Given the description of an element on the screen output the (x, y) to click on. 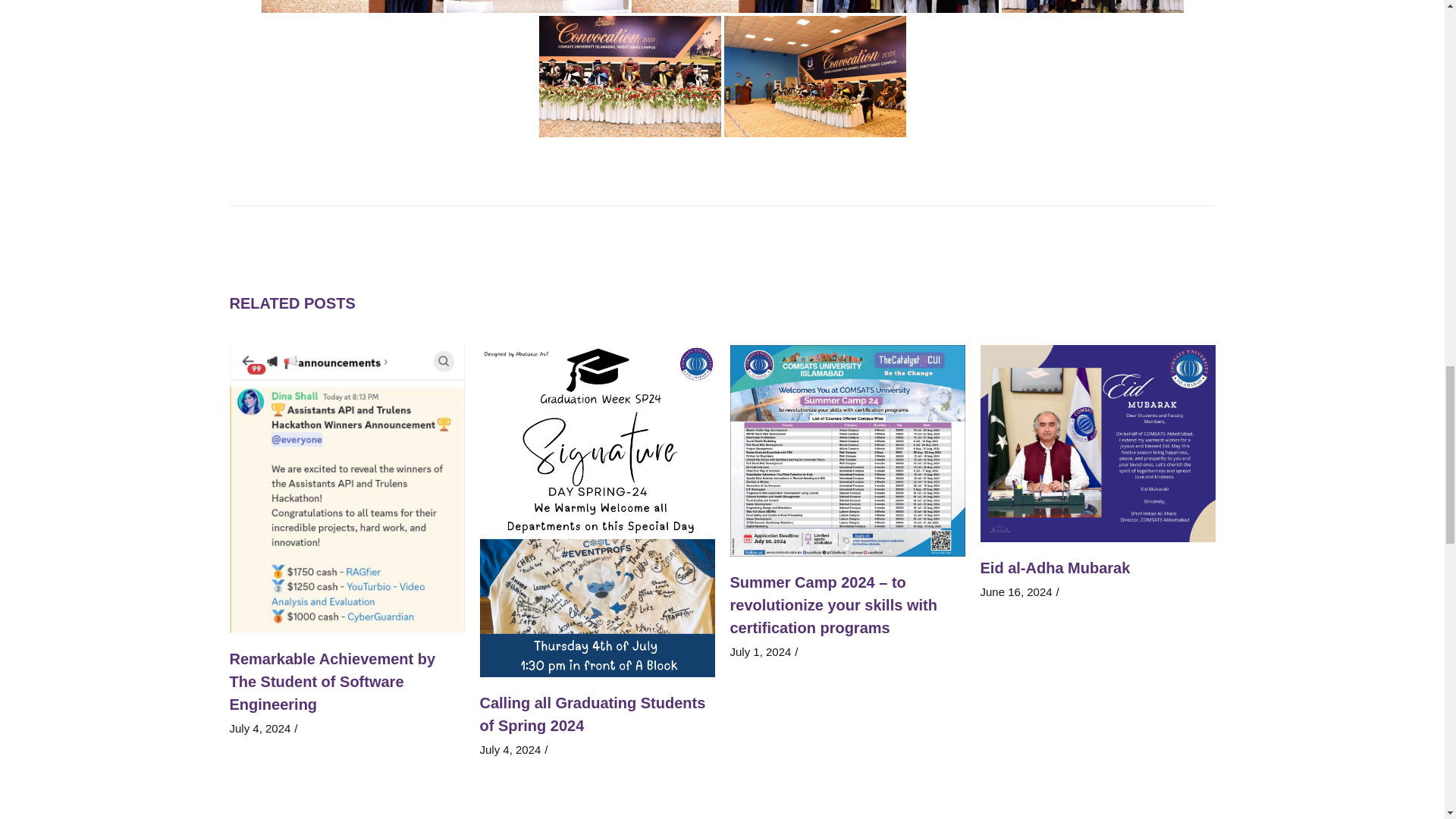
4 (906, 6)
2 (721, 6)
5 (351, 6)
6 (536, 6)
